Given the description of an element on the screen output the (x, y) to click on. 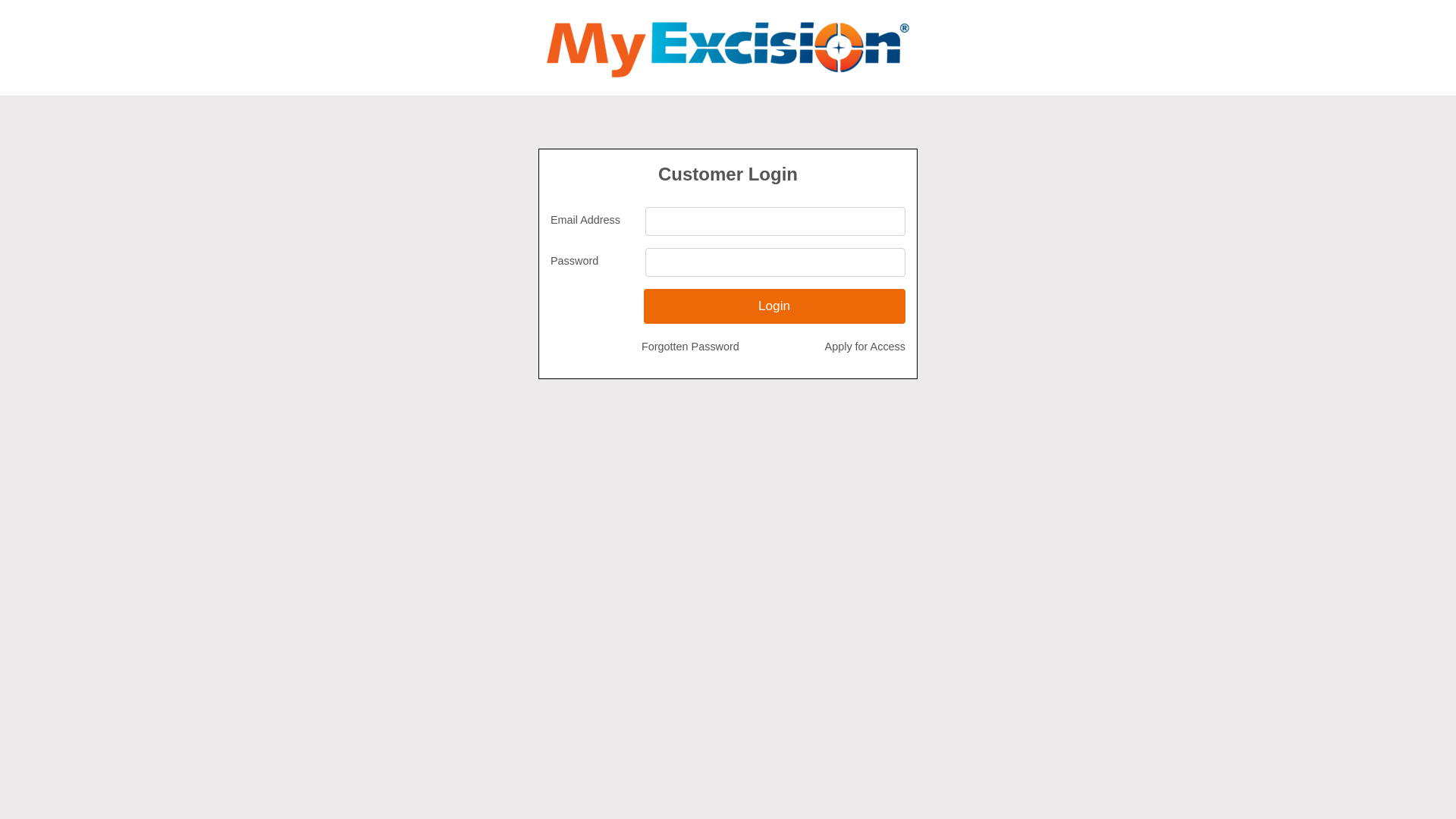
Login Element type: text (773, 305)
Forgotten Password Element type: text (690, 346)
Apply for Access Element type: text (865, 346)
